Given the description of an element on the screen output the (x, y) to click on. 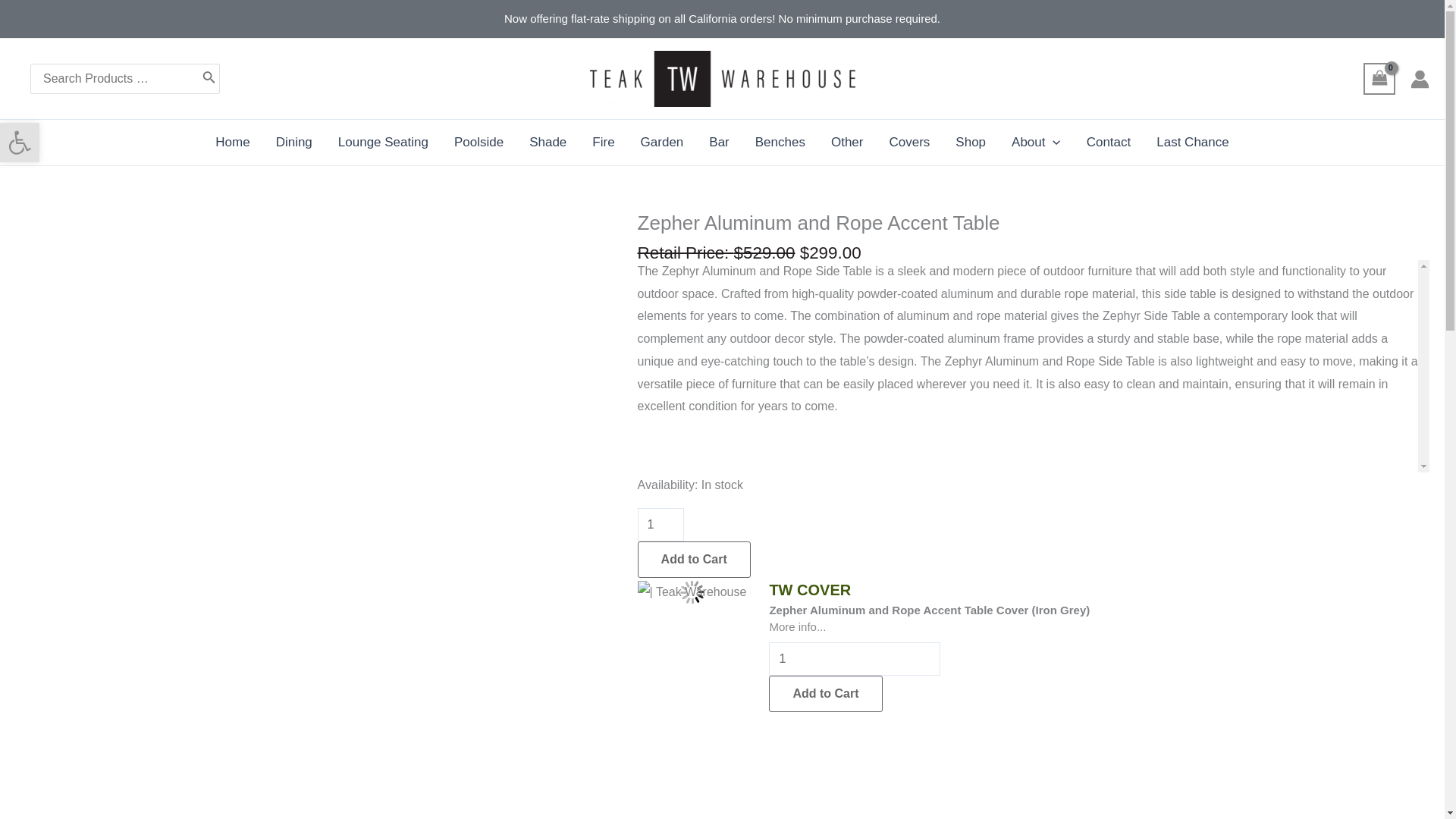
Lounge Seating (382, 142)
Shop (970, 142)
Accessibility Tools (19, 142)
Last Chance (1191, 142)
Garden (662, 142)
1 (660, 524)
1 (854, 658)
Accessibility Tools (19, 142)
Bar (718, 142)
Dining (293, 142)
